Given the description of an element on the screen output the (x, y) to click on. 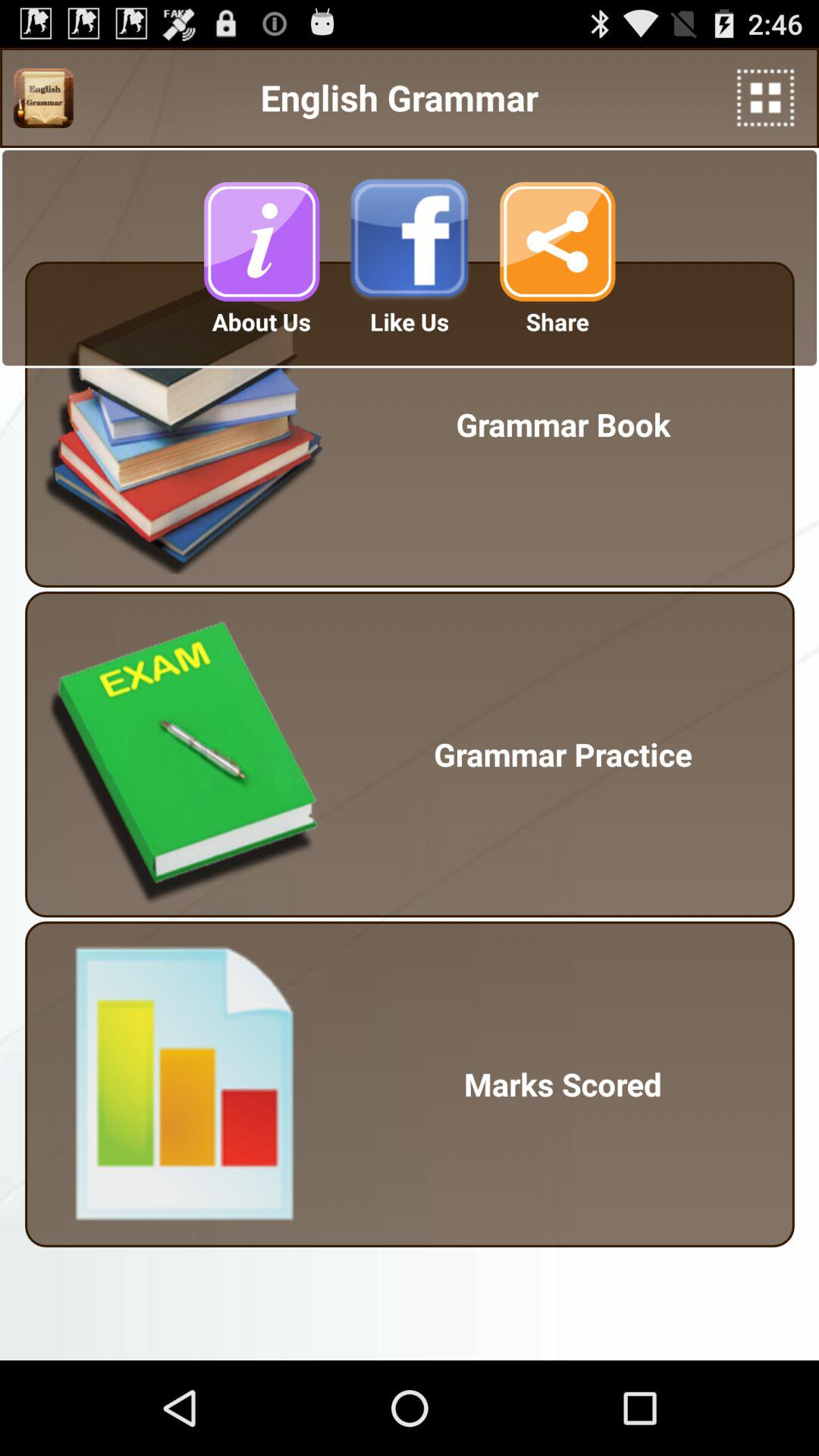
more information (261, 241)
